Given the description of an element on the screen output the (x, y) to click on. 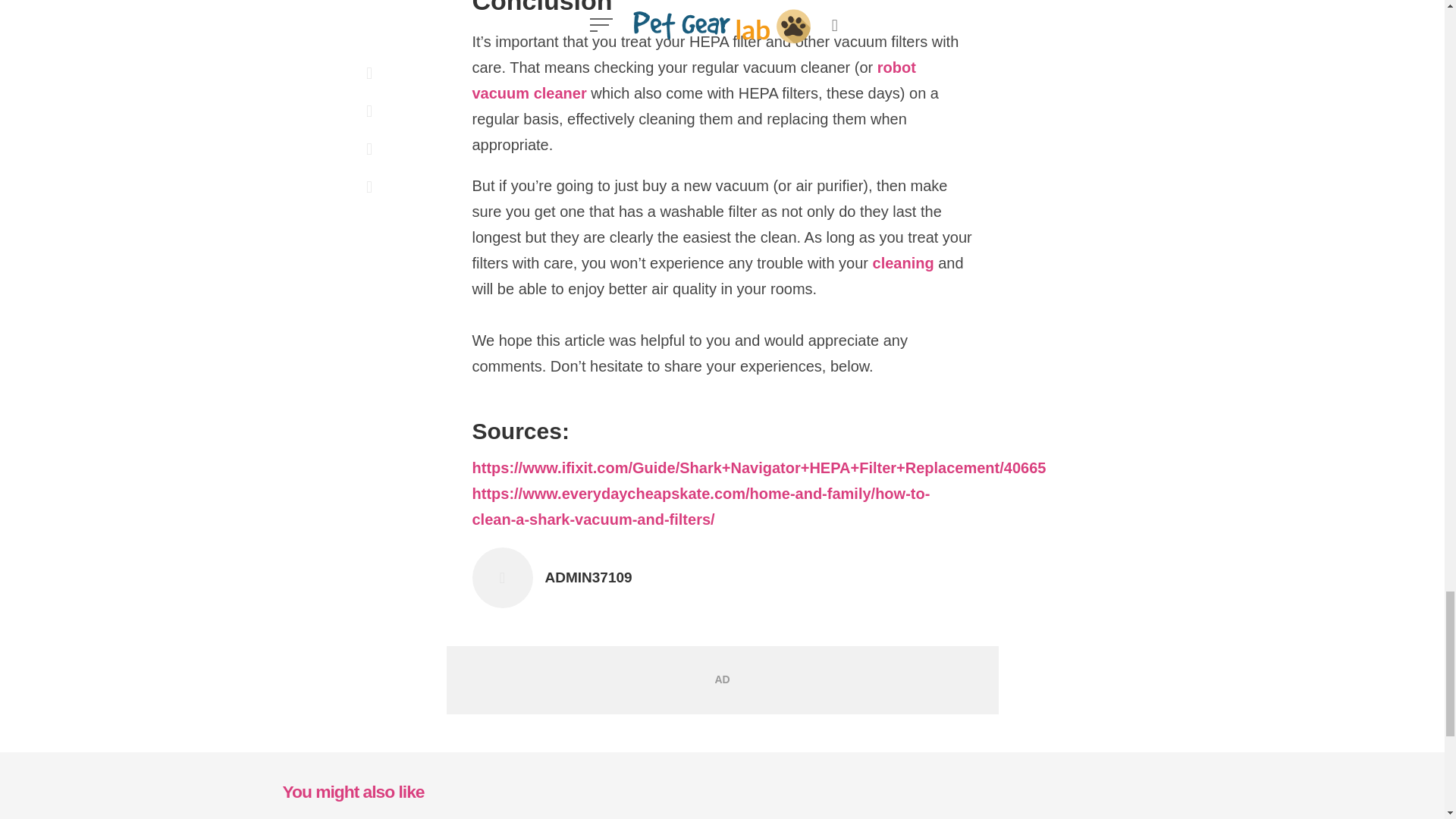
robot vacuum cleaner (587, 578)
cleaning (693, 81)
